Given the description of an element on the screen output the (x, y) to click on. 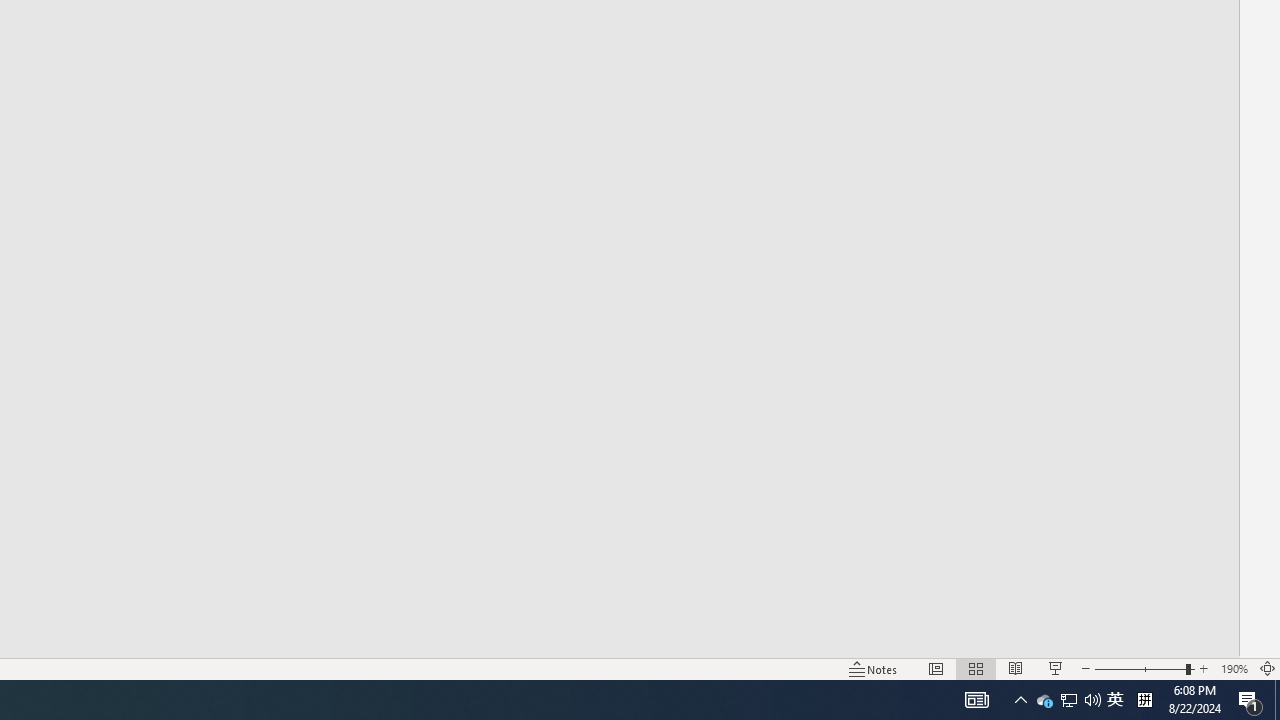
Zoom 190% (1234, 668)
